Given the description of an element on the screen output the (x, y) to click on. 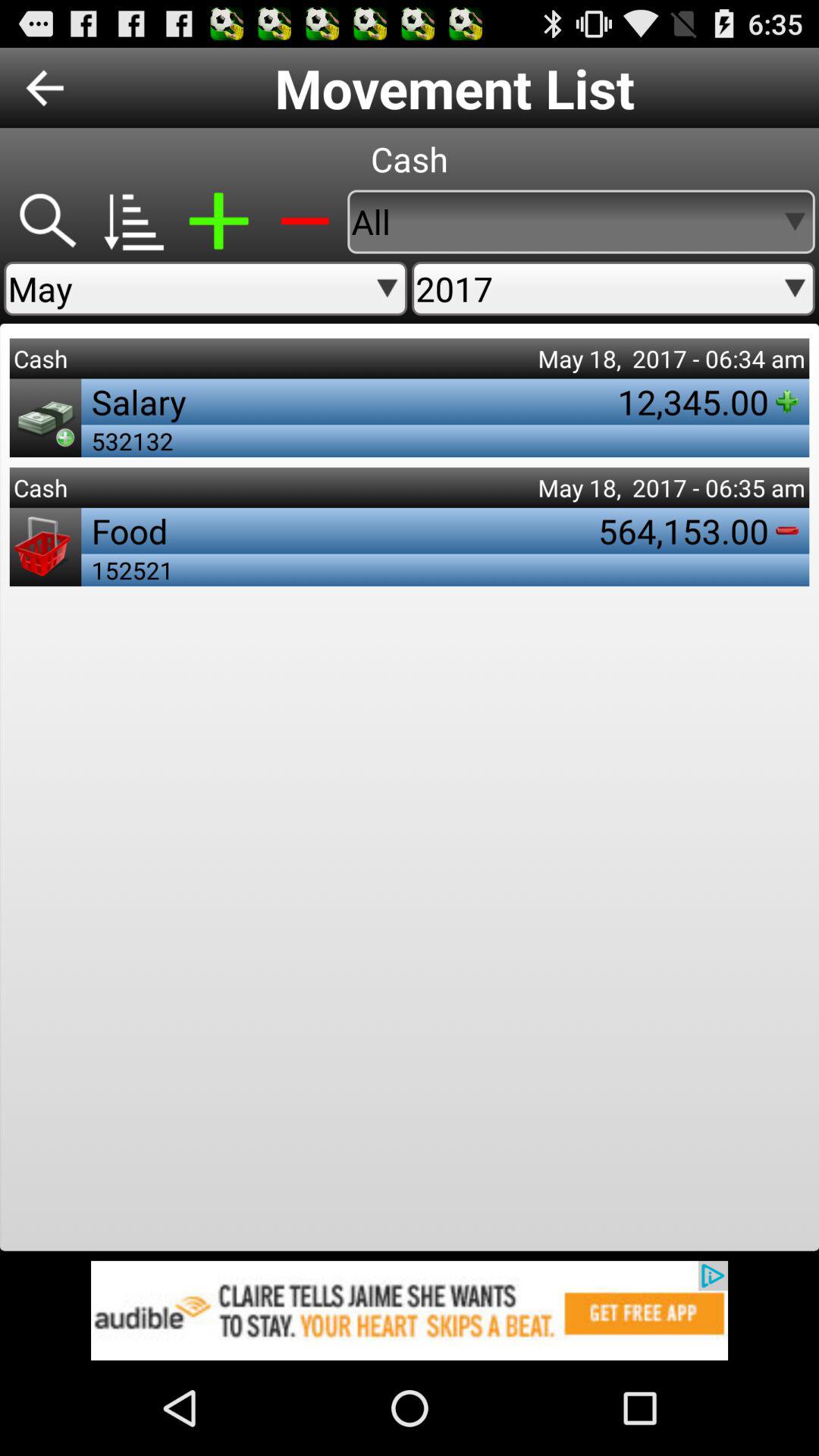
search (46, 221)
